Given the description of an element on the screen output the (x, y) to click on. 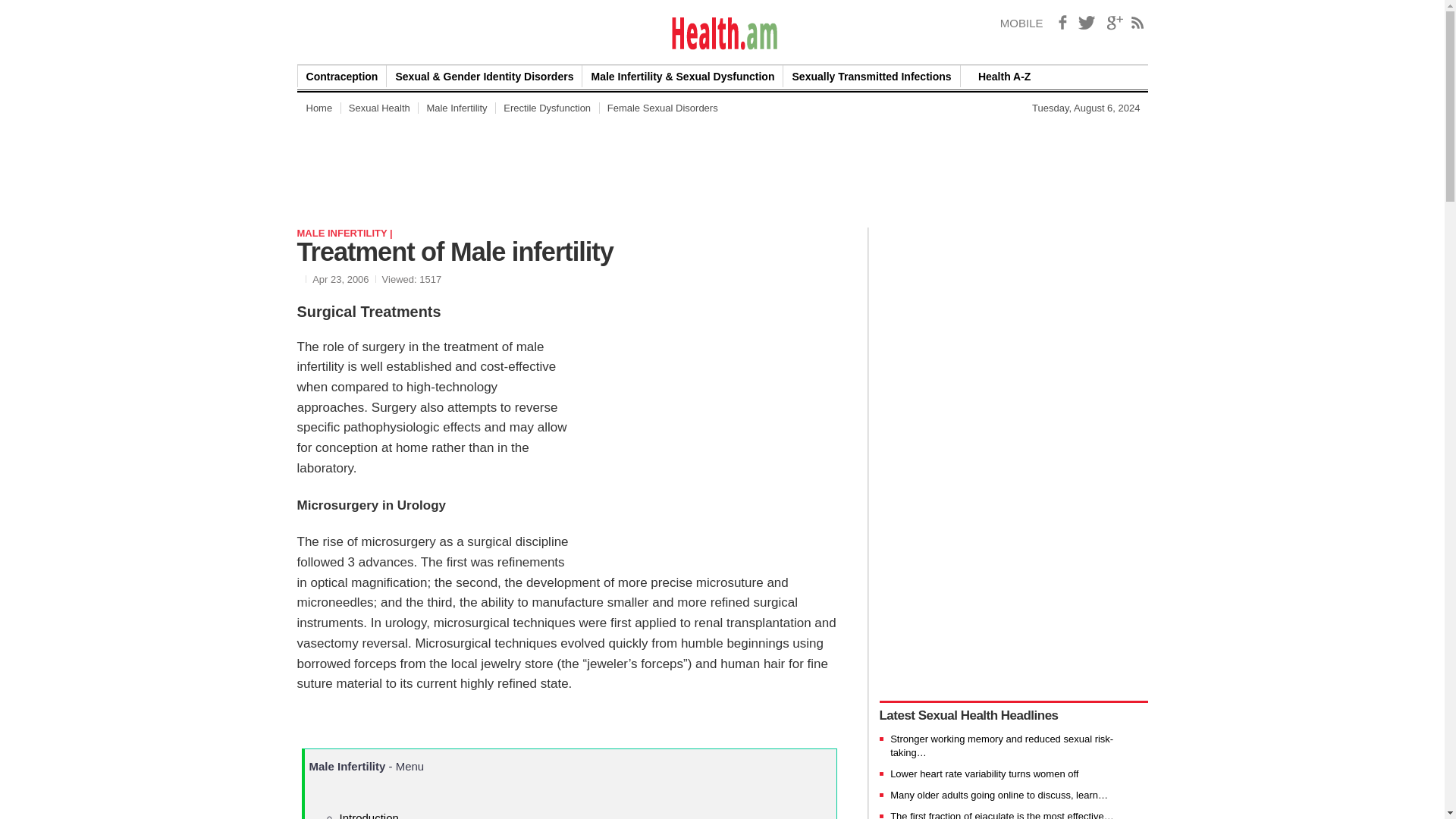
Contraception (341, 76)
Rss Feeds (1137, 22)
Advertisement (717, 435)
Advertisement (724, 785)
Advertisement (950, 162)
Female Sexual Disorders (662, 107)
Lower heart rate variability turns women off (983, 773)
Home (318, 107)
